Given the description of an element on the screen output the (x, y) to click on. 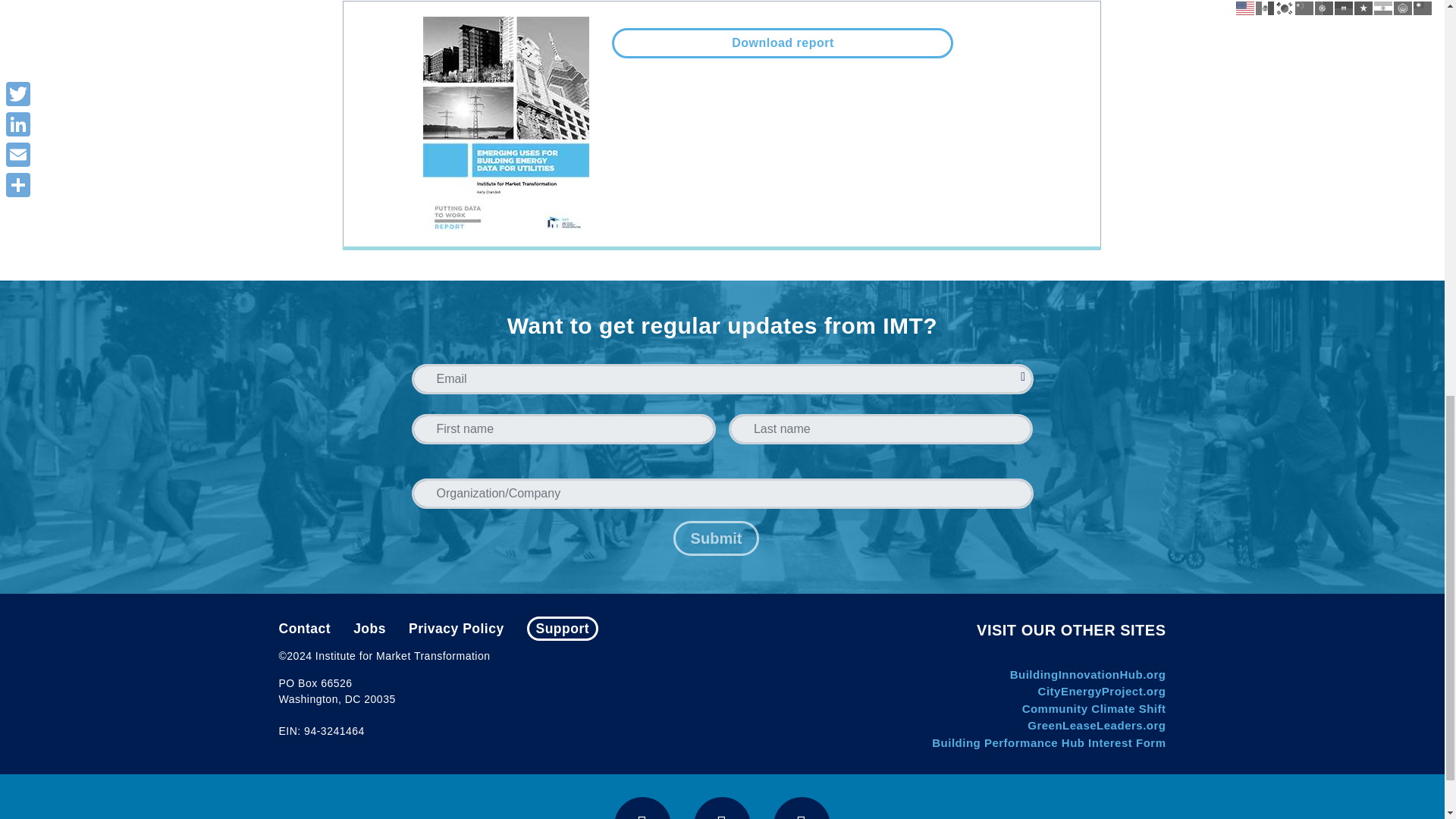
Submit (716, 538)
